Given the description of an element on the screen output the (x, y) to click on. 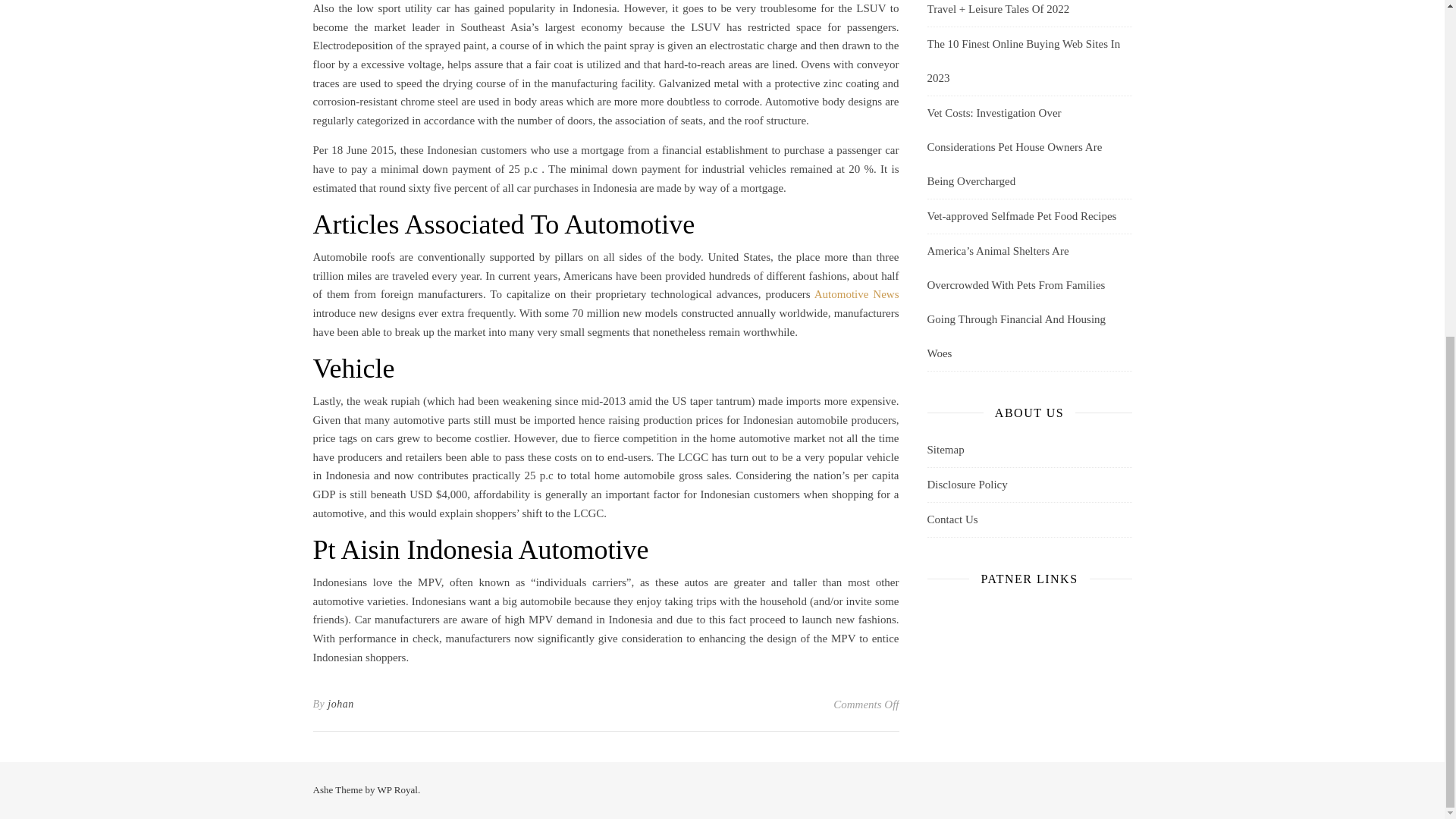
johan (340, 703)
Posts by johan (340, 703)
Disclosure Policy (1028, 484)
Automotive News (856, 294)
Sitemap (1028, 450)
Contact Us (1028, 519)
WP Royal (397, 789)
Vet-approved Selfmade Pet Food Recipes (1021, 215)
The 10 Finest Online Buying Web Sites In 2023 (1022, 60)
